Given the description of an element on the screen output the (x, y) to click on. 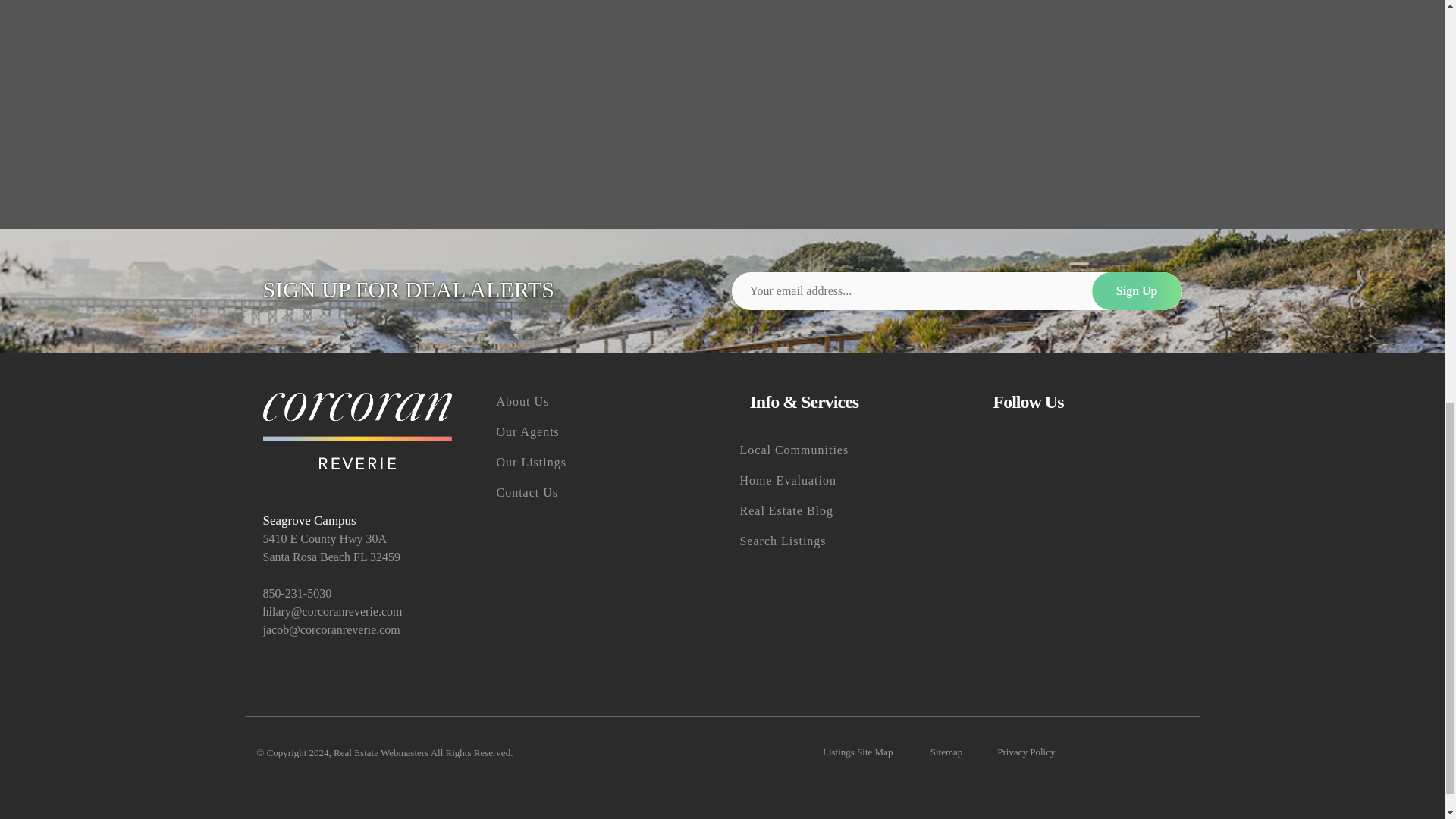
Site Logo (356, 431)
